Given the description of an element on the screen output the (x, y) to click on. 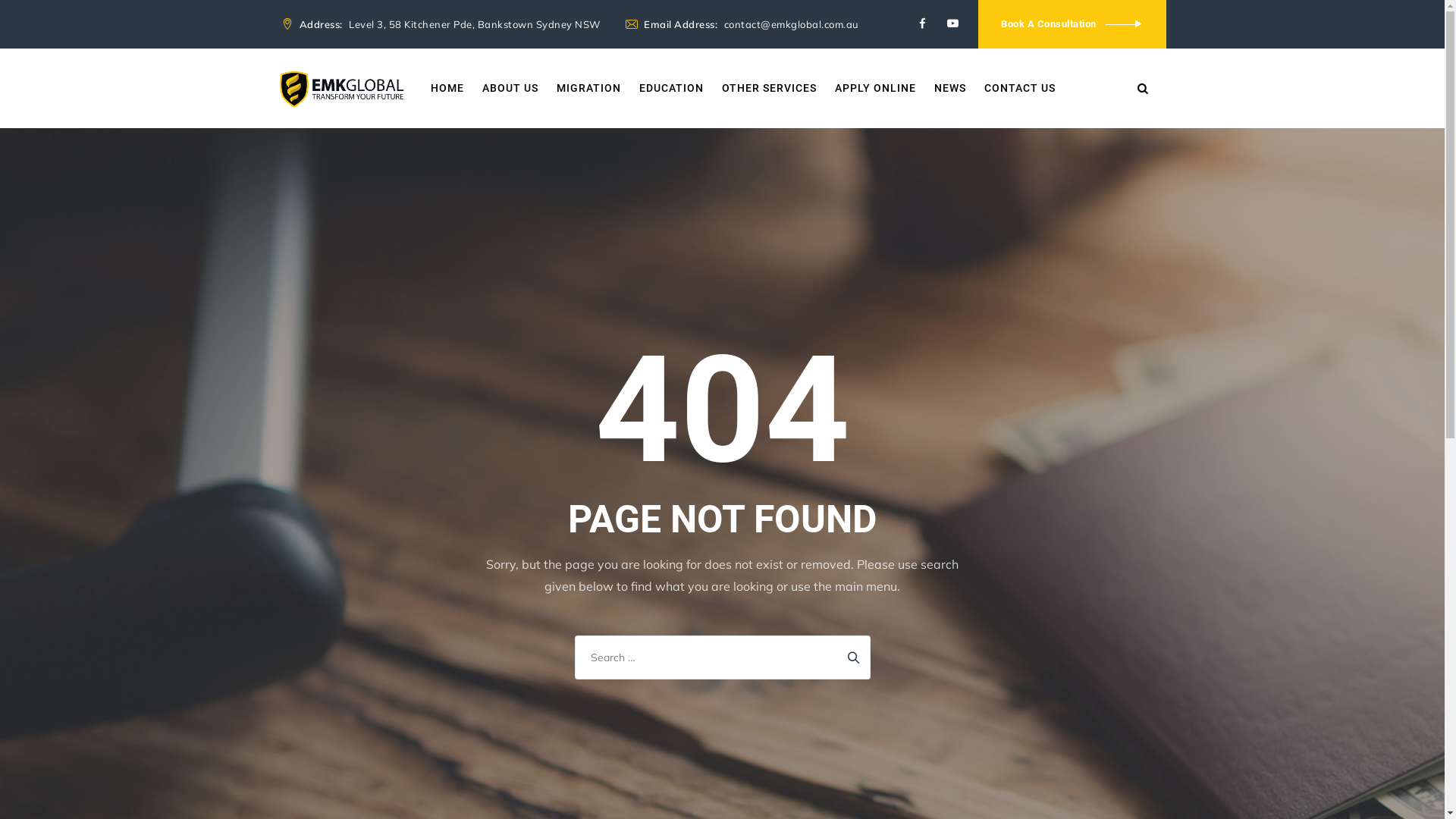
Search Element type: text (852, 652)
Book A Consultation Element type: text (1072, 24)
CONTACT US Element type: text (1019, 88)
MIGRATION Element type: text (588, 88)
EDUCATION Element type: text (671, 88)
NEWS Element type: text (950, 88)
ABOUT US Element type: text (510, 88)
OTHER SERVICES Element type: text (768, 88)
EMK Global Element type: hover (341, 88)
APPLY ONLINE Element type: text (875, 88)
HOME Element type: text (447, 88)
